Given the description of an element on the screen output the (x, y) to click on. 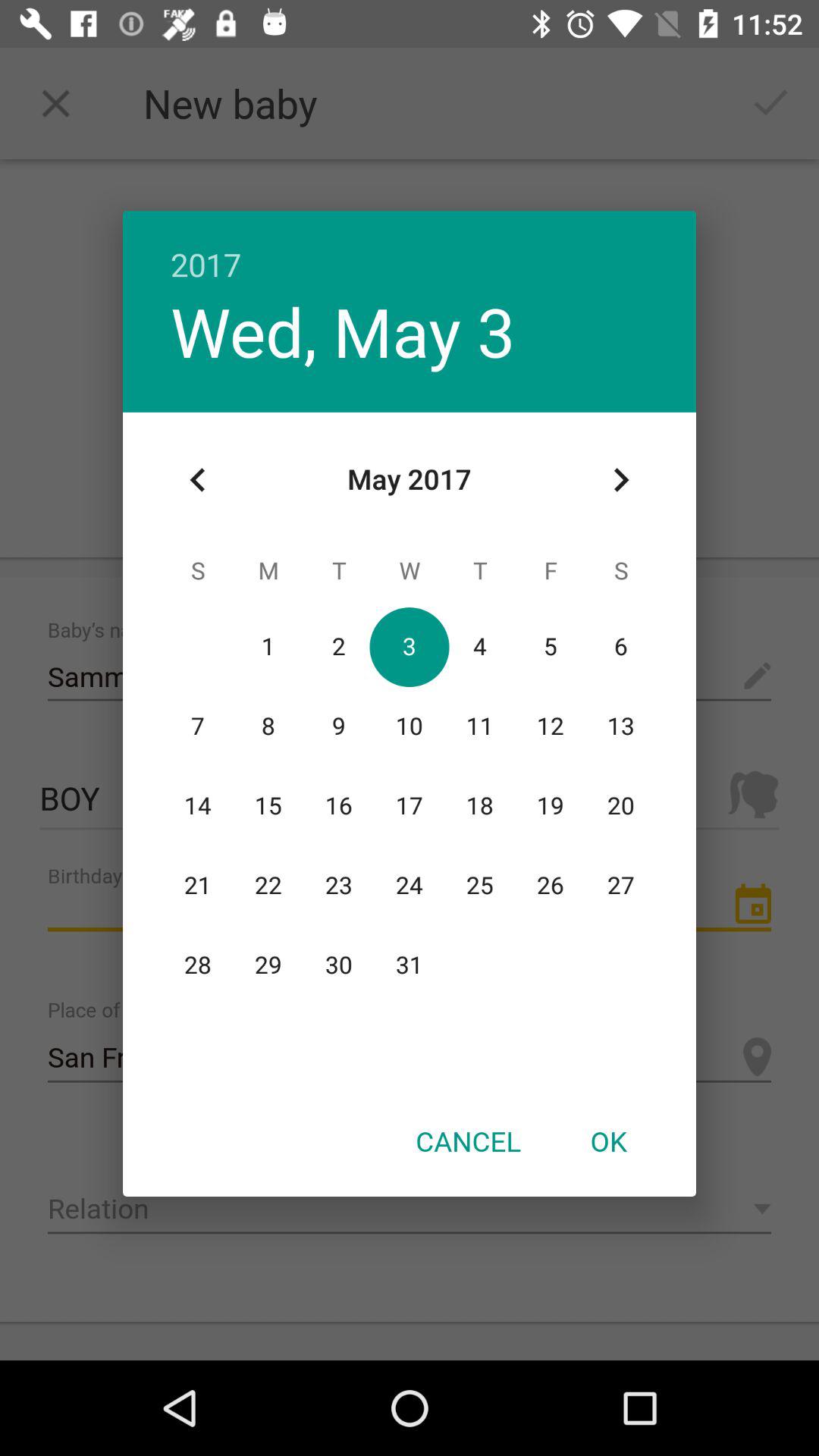
swipe until 2017 item (409, 248)
